Given the description of an element on the screen output the (x, y) to click on. 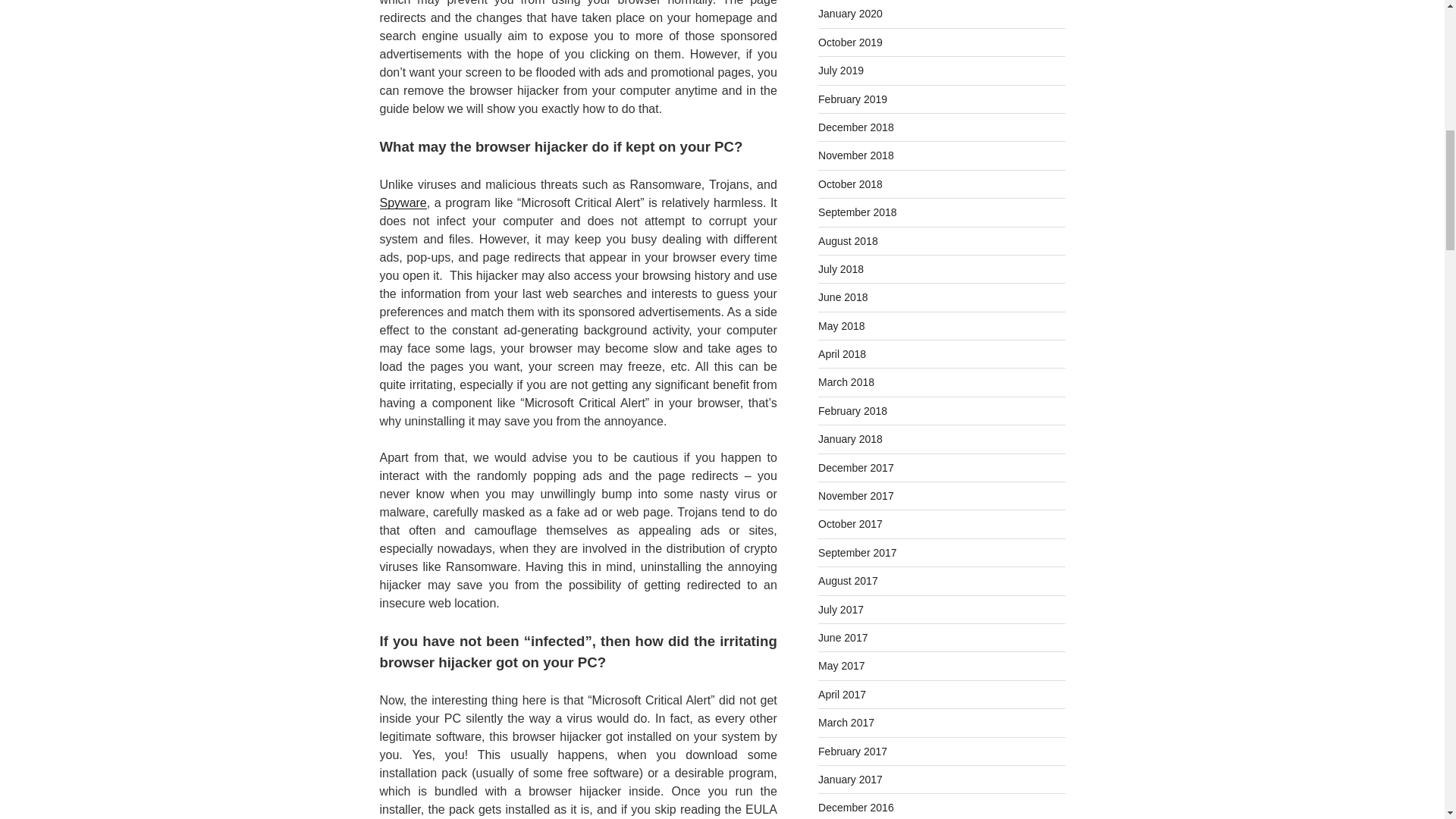
January 2020 (850, 13)
Spyware (402, 202)
October 2019 (850, 42)
